Given the description of an element on the screen output the (x, y) to click on. 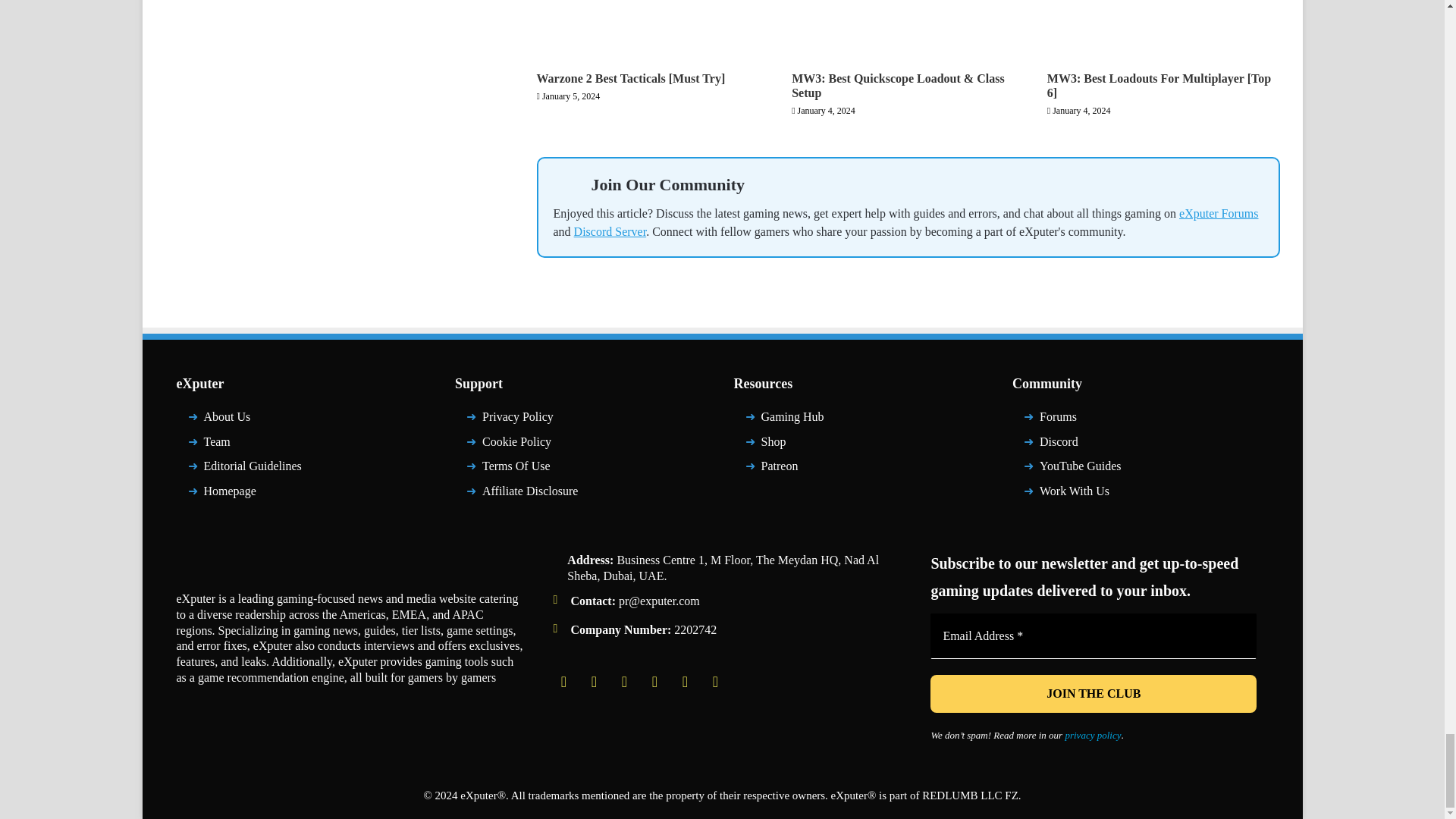
Email Address (1093, 636)
JOIN THE  CLUB (1093, 693)
